Given the description of an element on the screen output the (x, y) to click on. 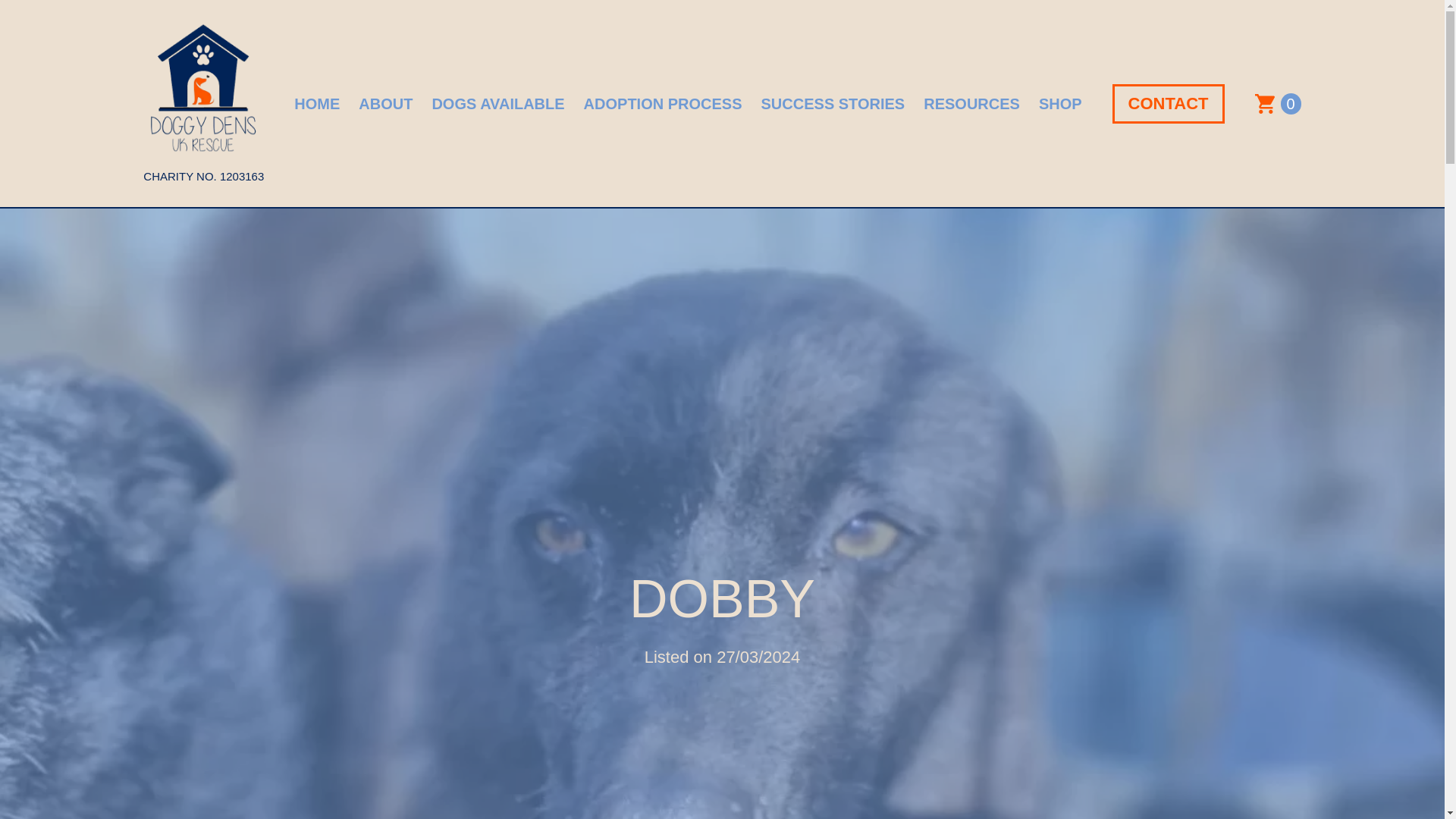
CONTACT (1168, 103)
ADOPTION PROCESS (662, 103)
HOME (316, 103)
0 (1278, 103)
DOGS AVAILABLE (497, 103)
RESOURCES (971, 103)
SUCCESS STORIES (833, 103)
ABOUT (385, 103)
SHOP (1060, 103)
